Given the description of an element on the screen output the (x, y) to click on. 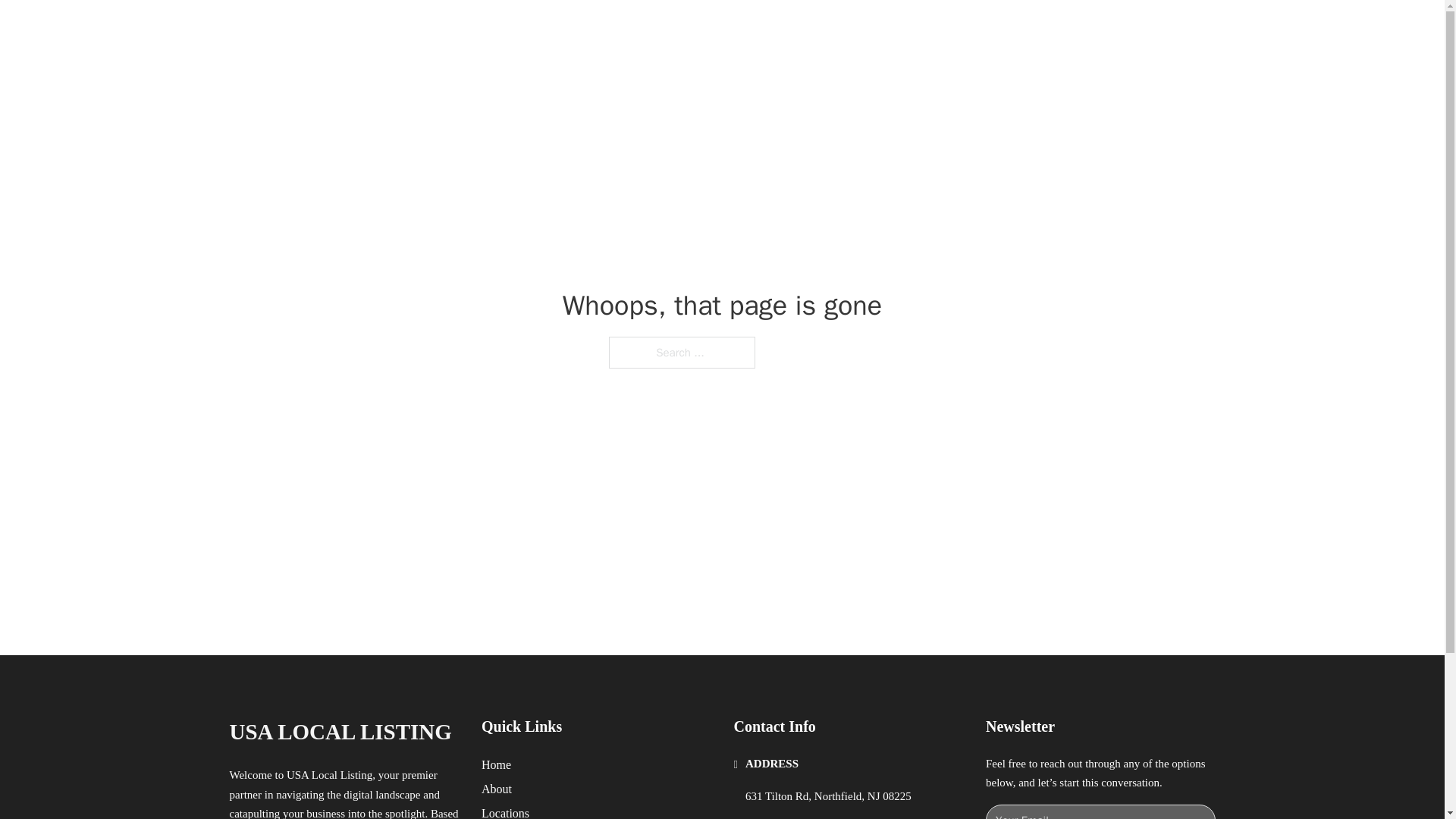
Locations (505, 811)
About (496, 788)
USA LOCAL LISTING (339, 732)
LOCATIONS (990, 29)
Home (496, 764)
USA LOCAL LISTING (408, 28)
HOME (919, 29)
